Given the description of an element on the screen output the (x, y) to click on. 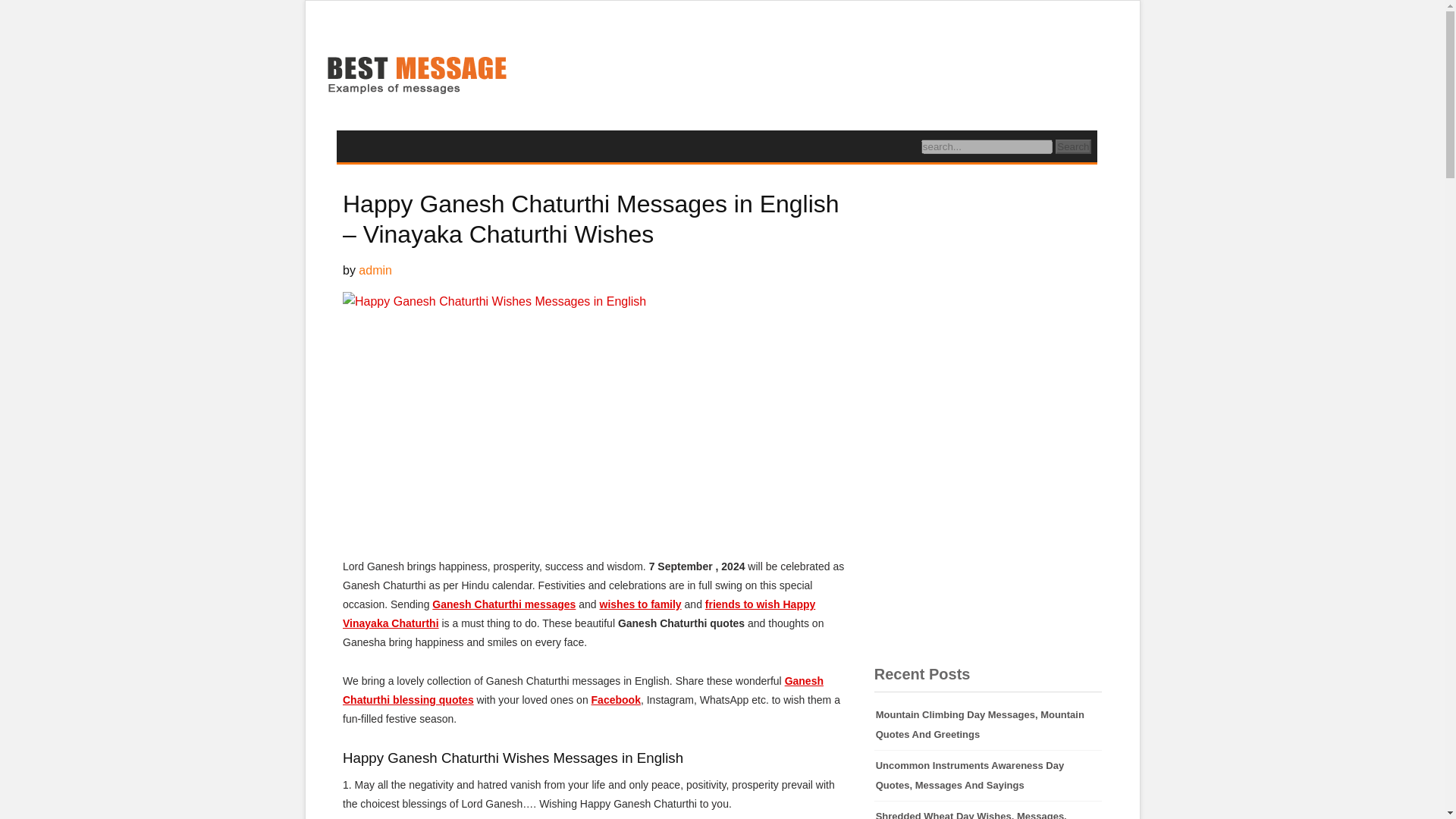
friends to wish Happy Vinayaka Chaturthi (578, 613)
Ganesh Chaturthi messages (503, 604)
wishes to family (640, 604)
admin (374, 269)
Best Message (415, 76)
Ganesh Chaturthi blessing quotes (583, 689)
Search (1072, 146)
Facebook (615, 699)
Search (1072, 146)
